Given the description of an element on the screen output the (x, y) to click on. 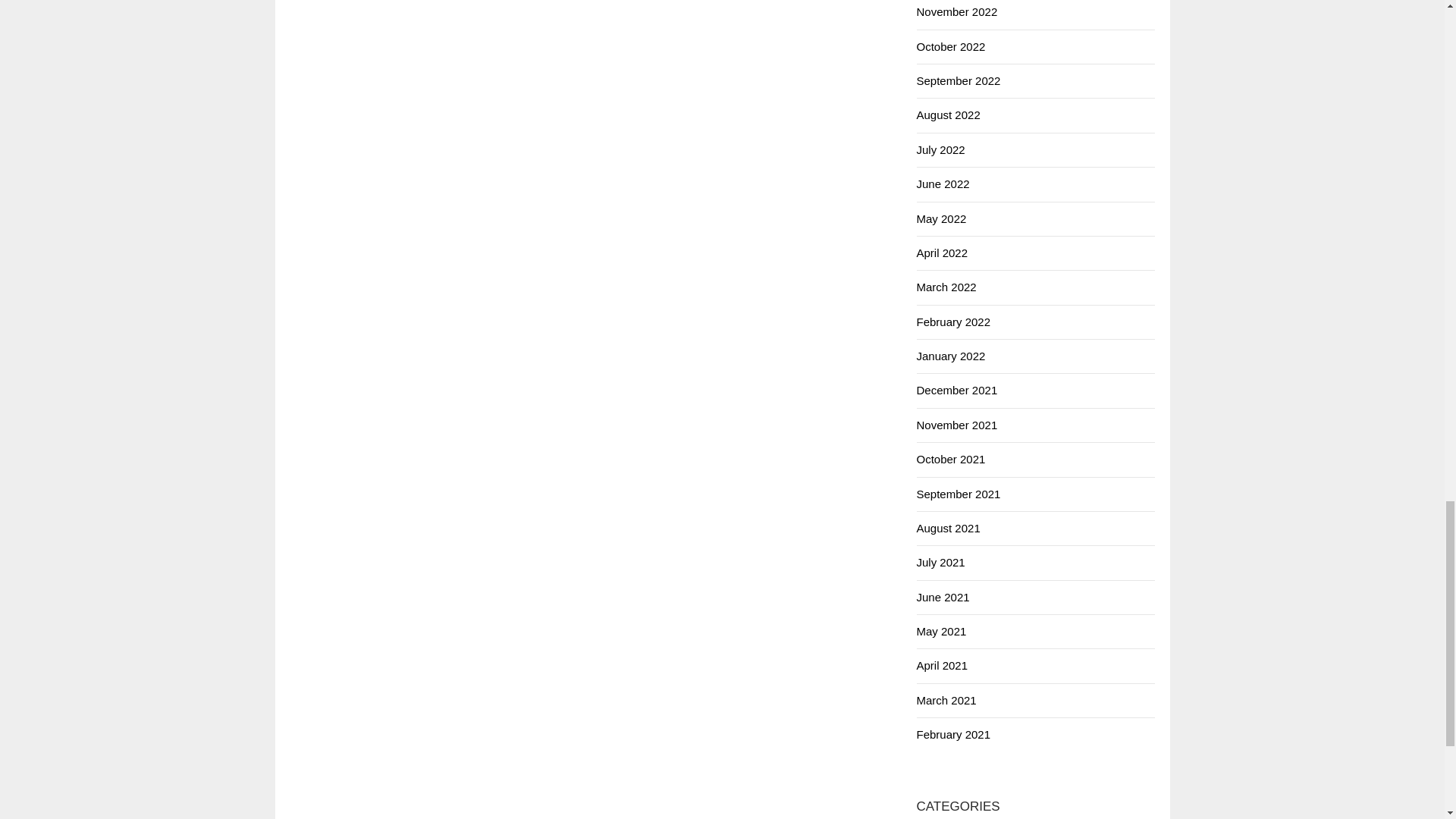
July 2022 (939, 149)
August 2022 (947, 114)
November 2022 (956, 11)
September 2022 (957, 80)
October 2022 (950, 46)
